Given the description of an element on the screen output the (x, y) to click on. 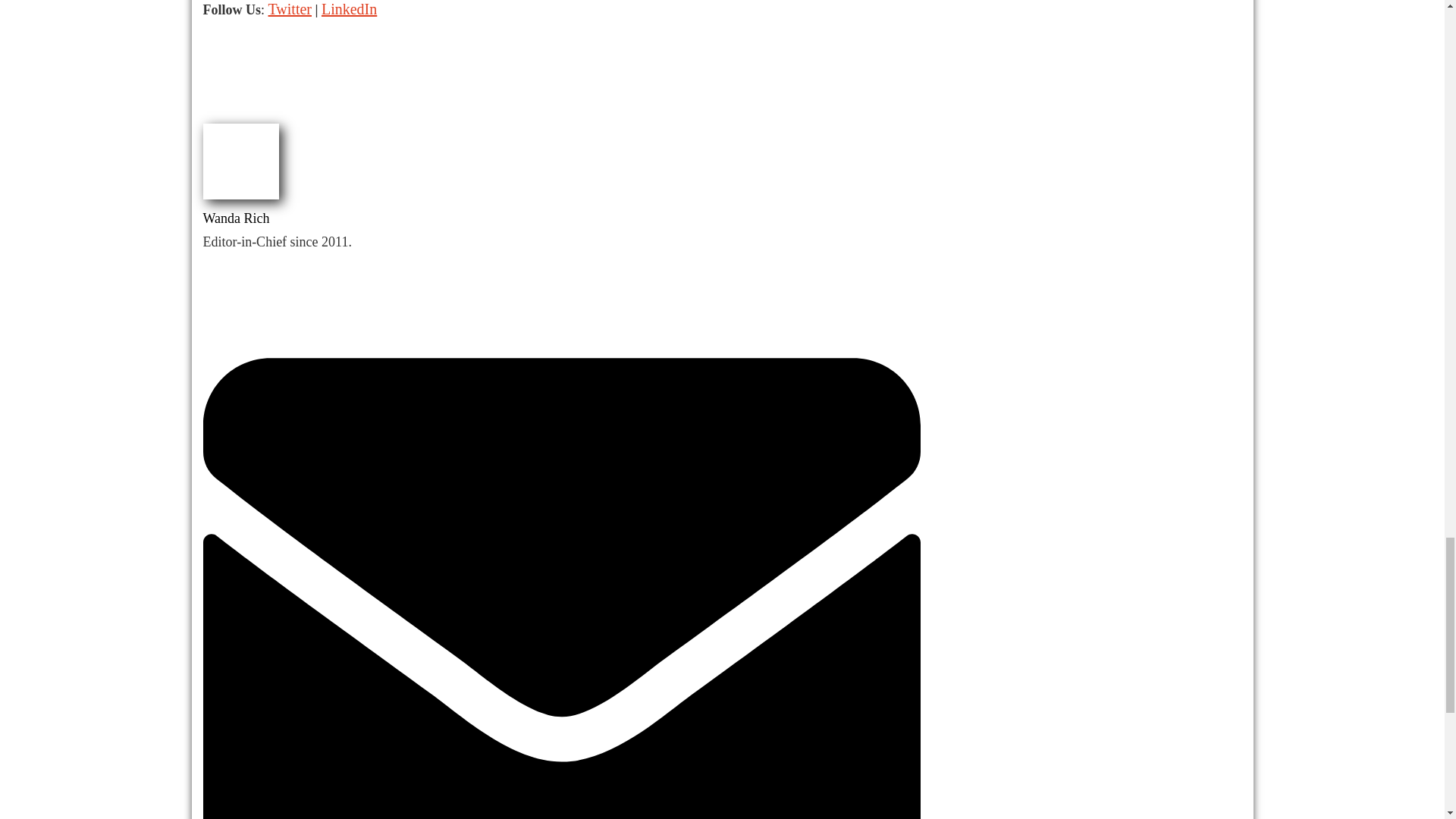
Share on Reddit (426, 99)
Twitter (289, 8)
Share on Xing (384, 99)
Share on Linkedin (301, 99)
Share on Pinterest (343, 99)
LinkedIn (349, 8)
Share on Facebook (220, 99)
Wanda Rich (236, 218)
Share on Twitter (261, 99)
